Given the description of an element on the screen output the (x, y) to click on. 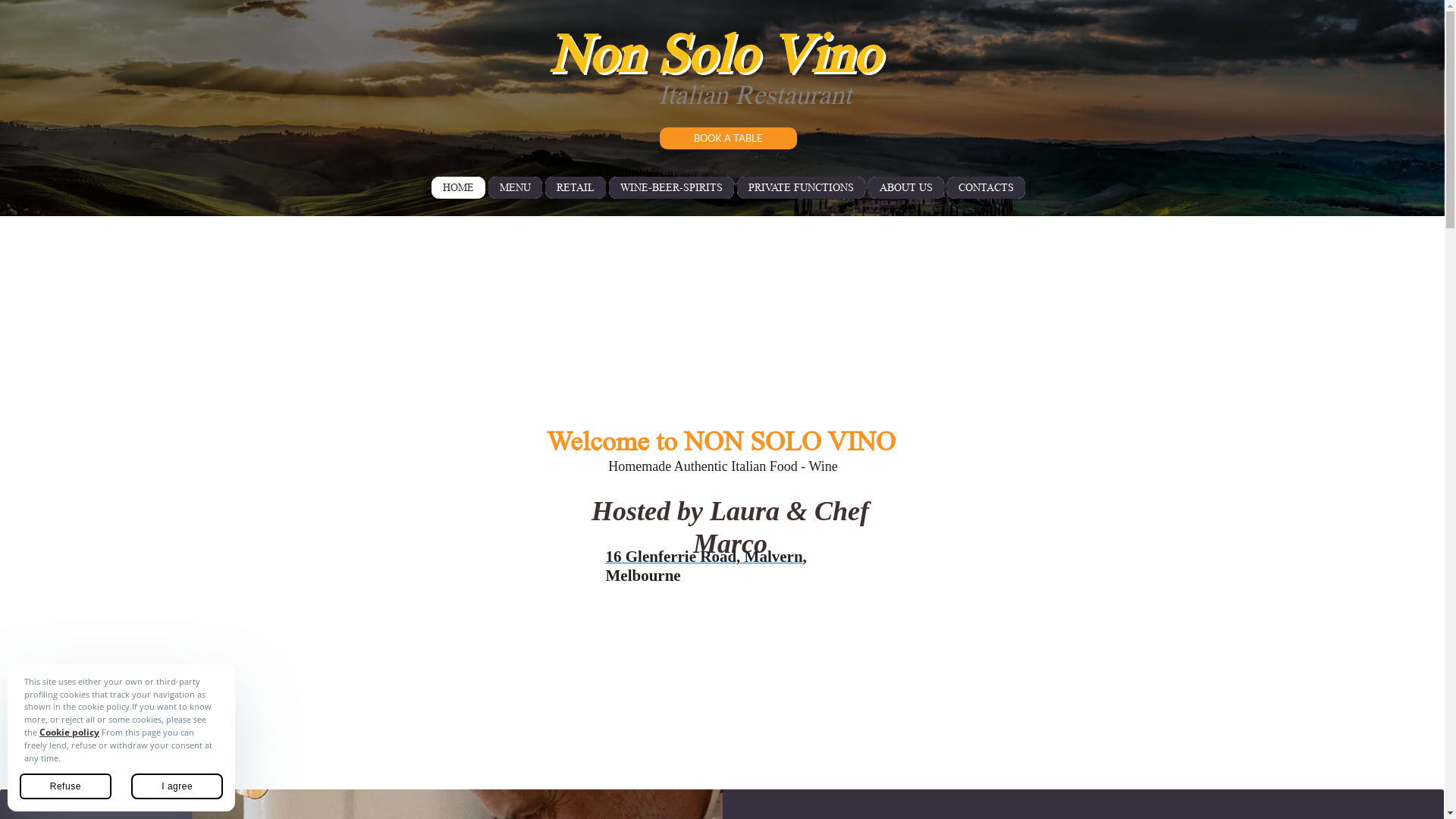
Cookie policy Element type: text (69, 731)
16 Glenferrie Road, Malvern, Element type: text (705, 557)
